Given the description of an element on the screen output the (x, y) to click on. 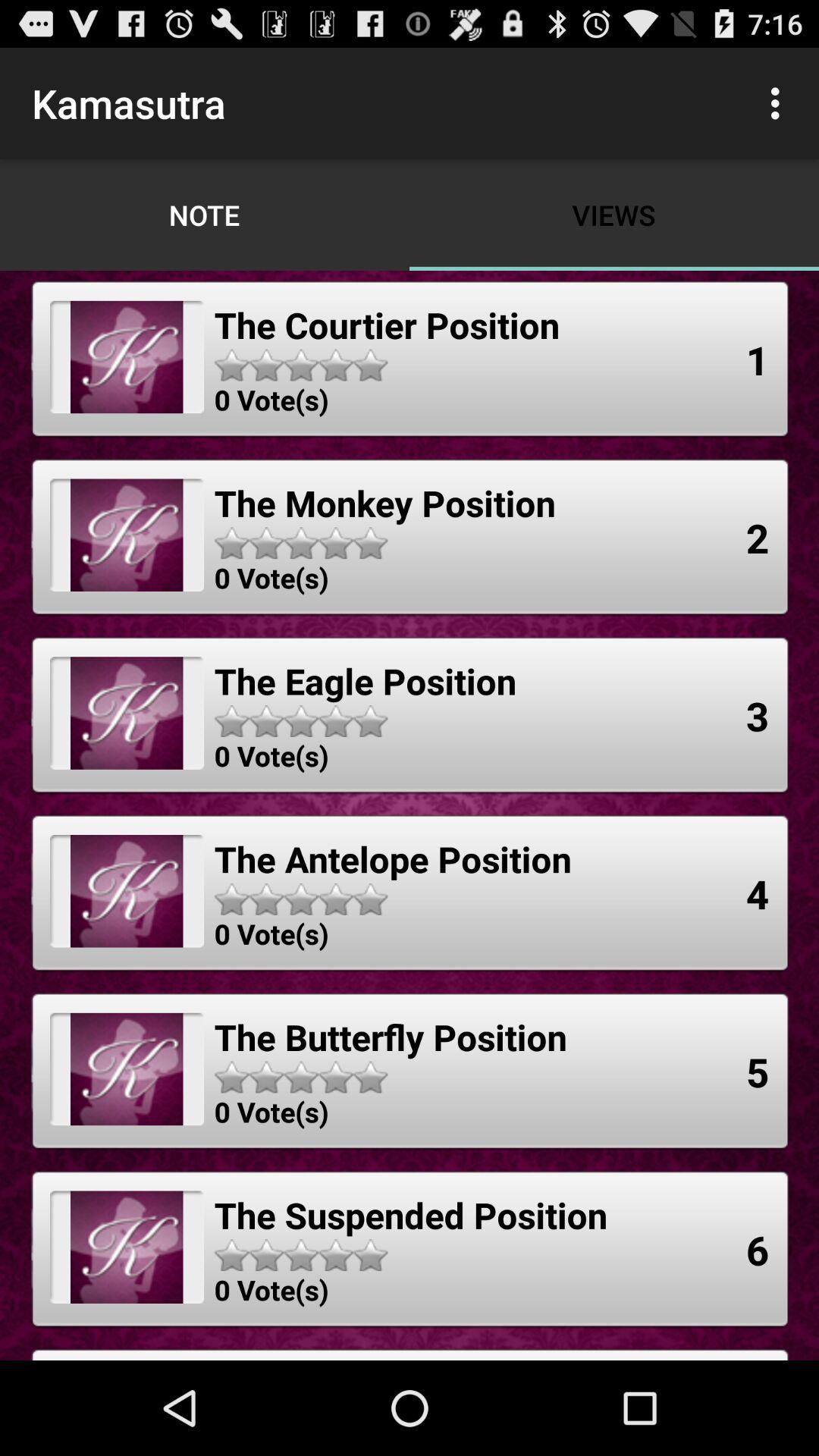
launch the icon above 3 icon (757, 537)
